Given the description of an element on the screen output the (x, y) to click on. 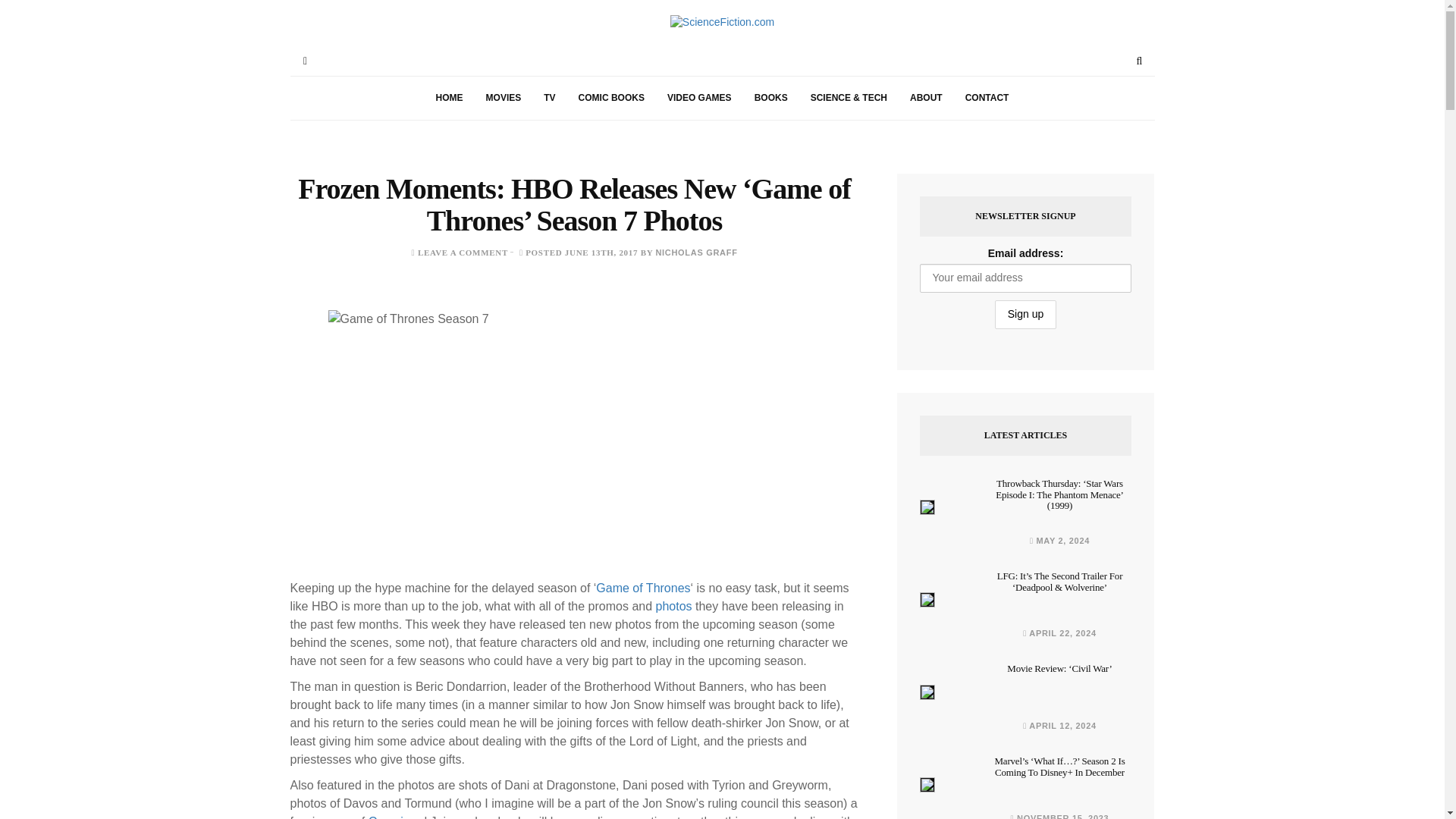
VIDEO GAMES (699, 97)
ABOUT (925, 97)
HOME (449, 97)
Search (1139, 60)
MOVIES (503, 97)
LEAVE A COMMENT (462, 252)
CONTACT (986, 97)
Posts by Nicholas Graff (695, 252)
Sign up (1025, 314)
NICHOLAS GRAFF (695, 252)
TV (549, 97)
BOOKS (770, 97)
COMIC BOOKS (611, 97)
